Given the description of an element on the screen output the (x, y) to click on. 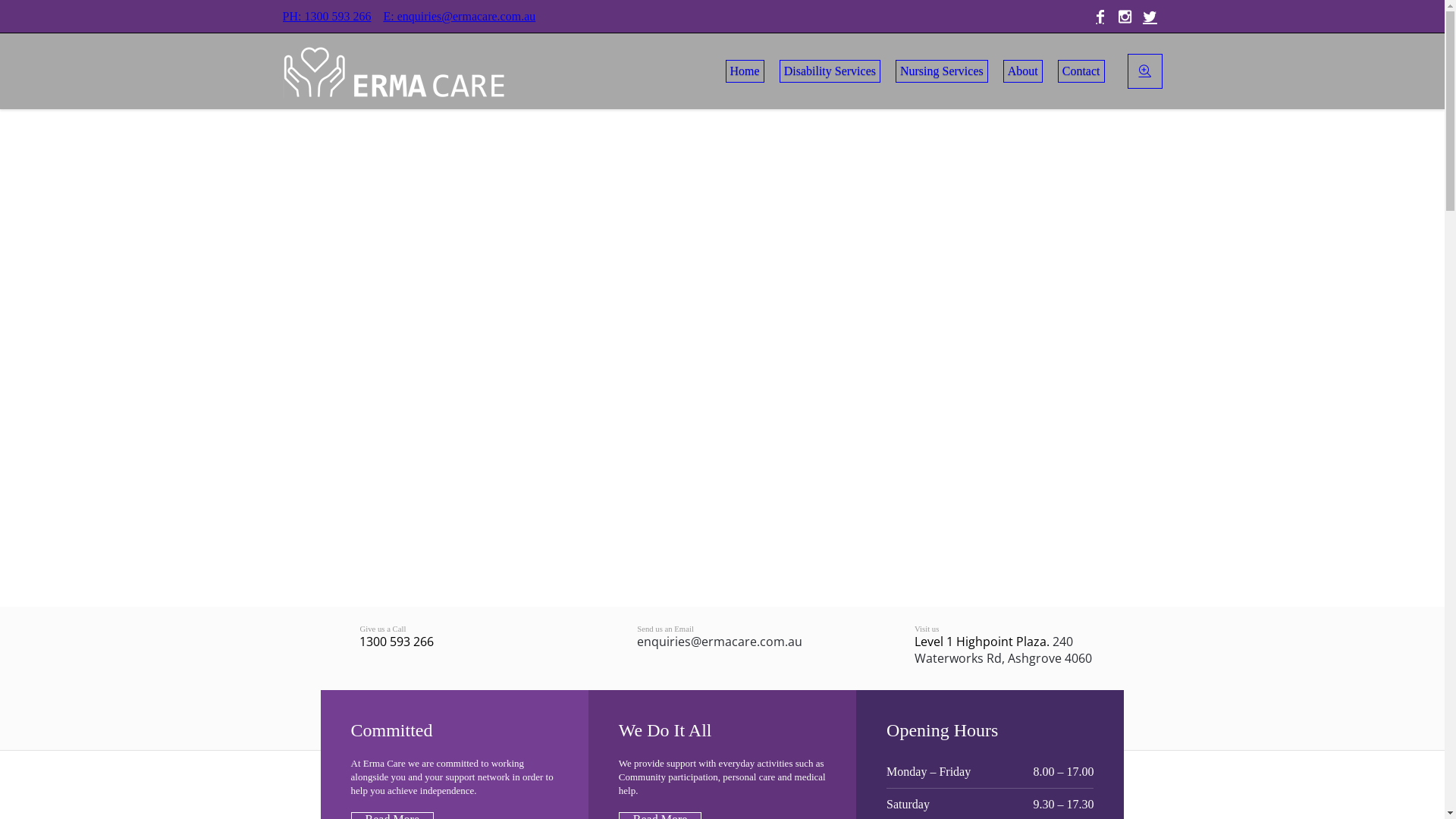
Facebook Element type: hover (1099, 16)
Contact Element type: text (1081, 71)
Home Element type: text (744, 71)
Twitter Element type: hover (1149, 16)
About Element type: text (1022, 71)
E: enquiries@ermacare.com.au Element type: text (458, 15)
PH: 1300 593 266 Element type: text (326, 15)
Nursing Services Element type: text (941, 71)
Disability Services Element type: text (829, 71)
Instagram Element type: hover (1125, 16)
